Given the description of an element on the screen output the (x, y) to click on. 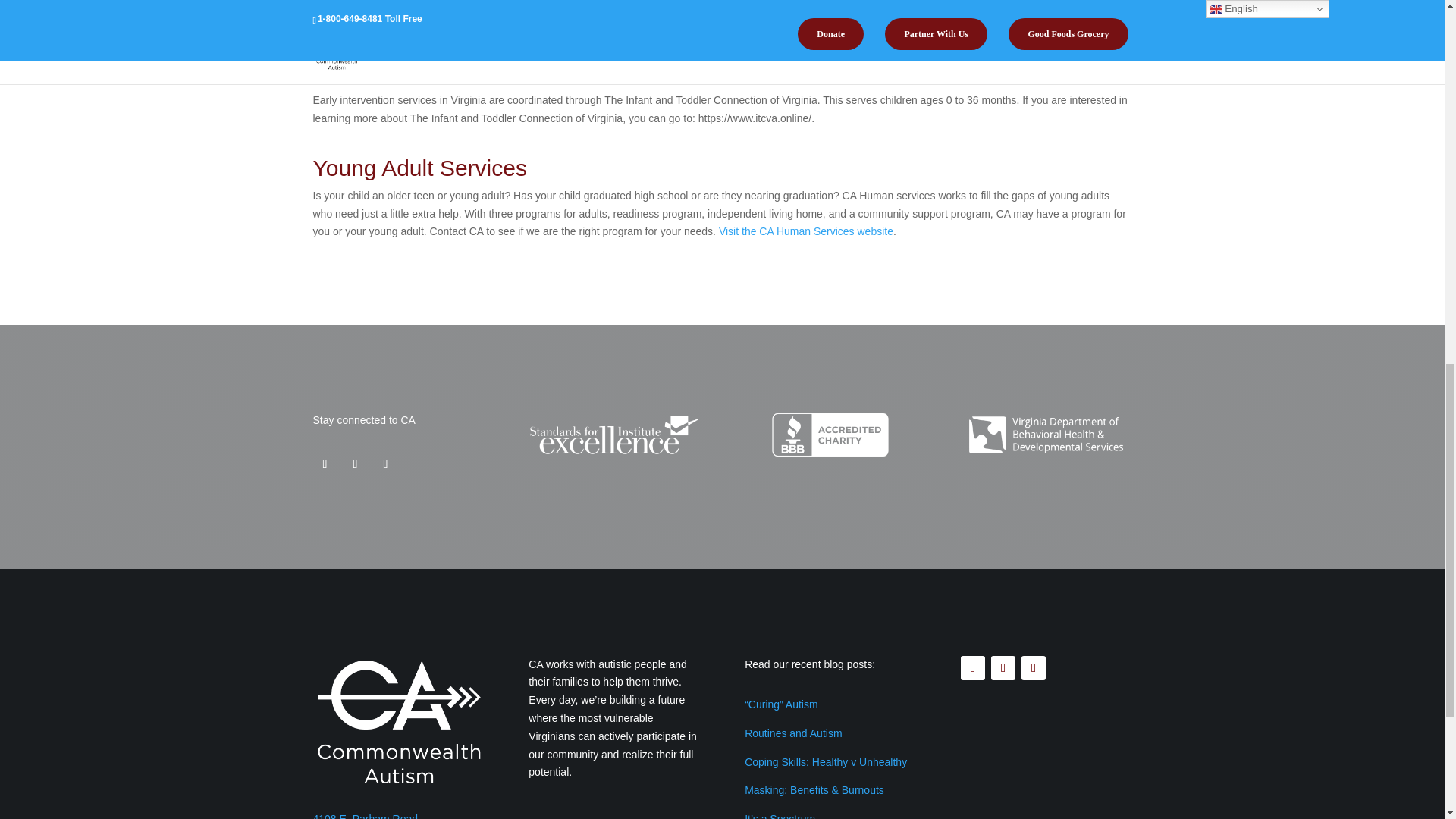
charity-01 (829, 434)
Follow on Instagram (1002, 668)
Follow on Facebook (972, 668)
vdbhds-01 (1045, 434)
Follow on X (384, 463)
Follow on Facebook (324, 463)
excellence-01 (613, 434)
Follow on Instagram (354, 463)
Follow on Youtube (1033, 668)
